Given the description of an element on the screen output the (x, y) to click on. 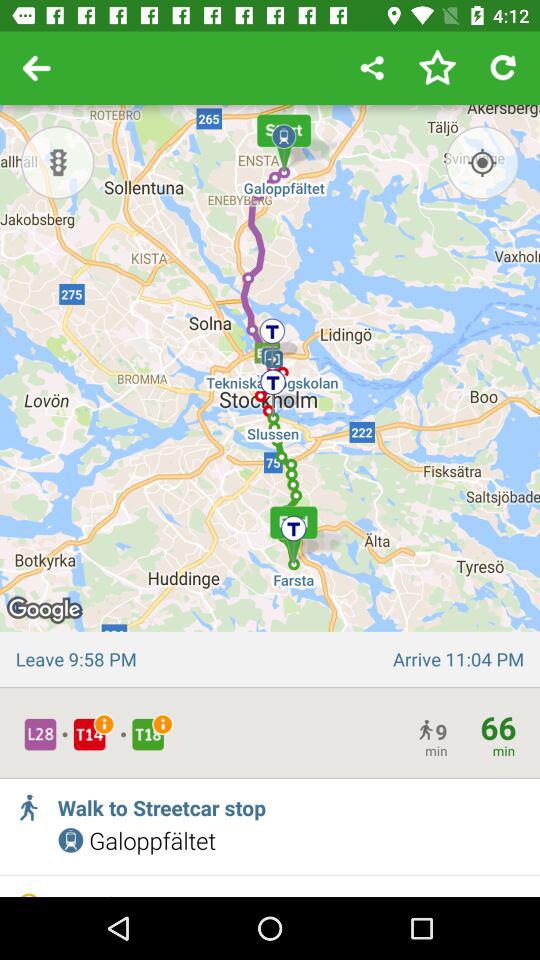
save as favorite (437, 68)
